Given the description of an element on the screen output the (x, y) to click on. 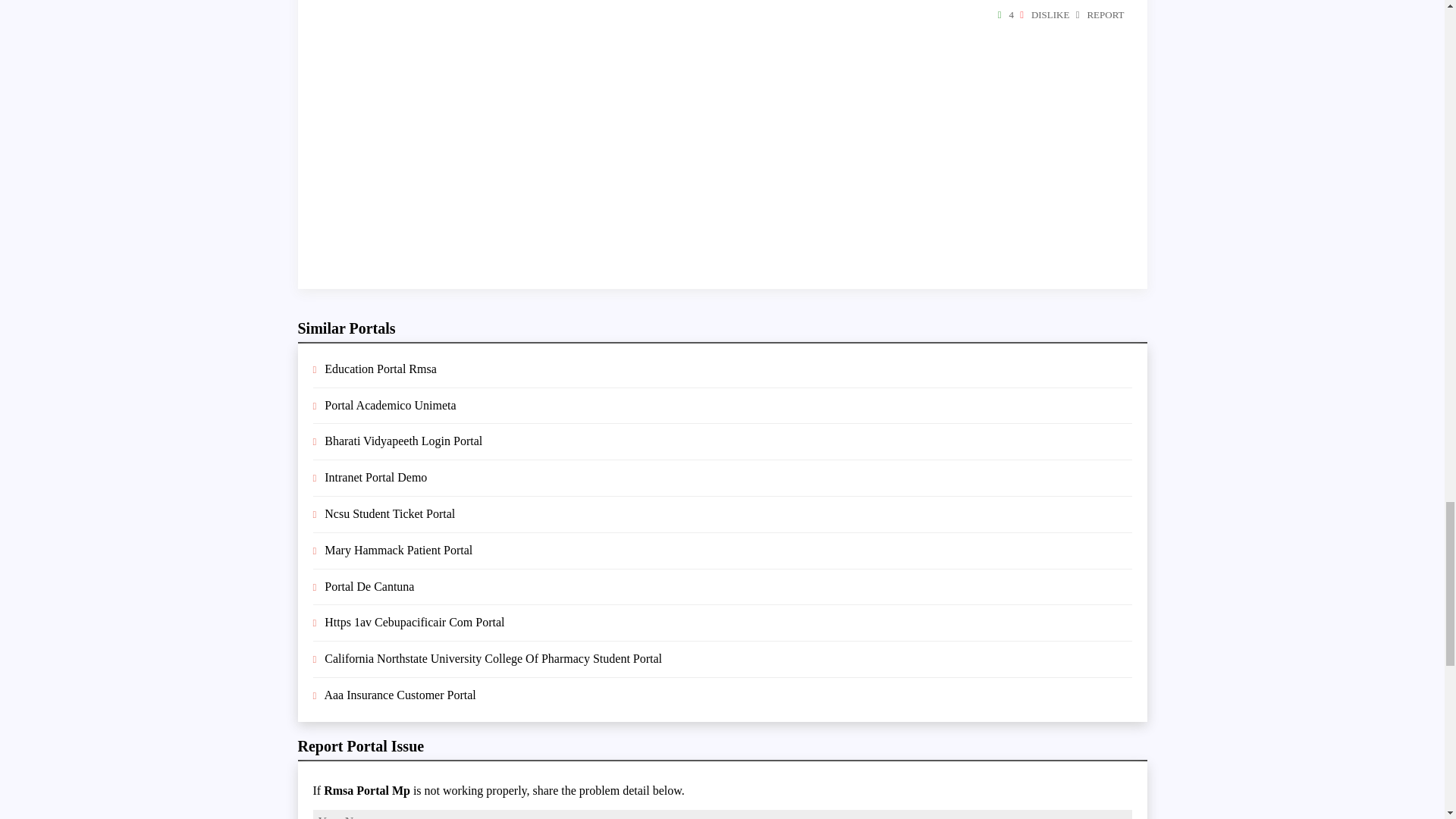
Portal De Cantuna (368, 585)
Education Portal Rmsa (380, 368)
Intranet Portal Demo (375, 477)
Mary Hammack Patient Portal (397, 549)
Bharati Vidyapeeth Login Portal (402, 440)
Ncsu Student Ticket Portal (389, 513)
Portal Academico Unimeta (389, 404)
Https 1av Cebupacificair Com Portal (413, 621)
